Given the description of an element on the screen output the (x, y) to click on. 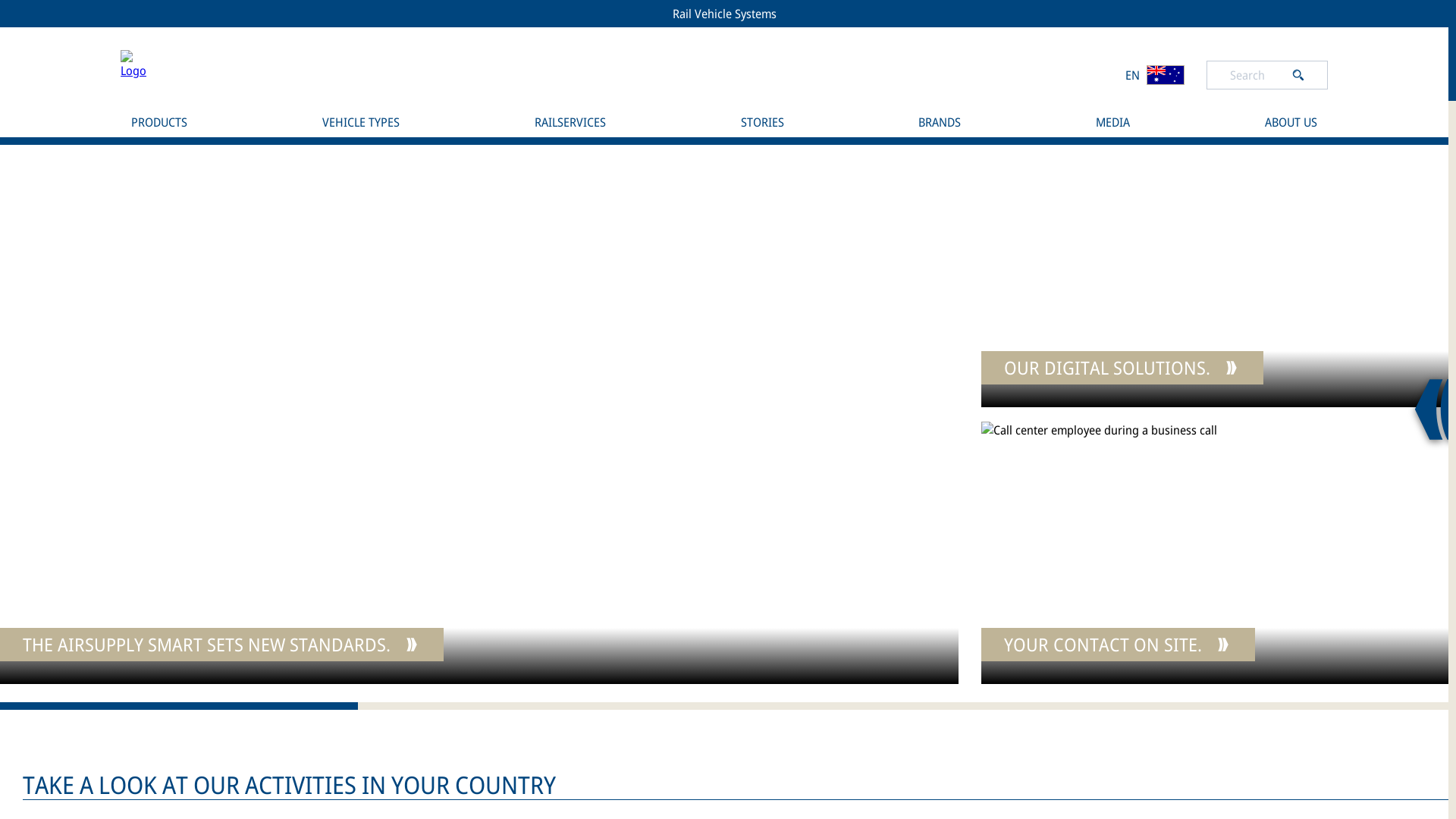
EN Element type: text (1154, 74)
PRODUCTS Element type: text (158, 121)
OUR DIGITAL SOLUTIONS. Element type: text (1214, 275)
RAILSERVICES Element type: text (570, 121)
BRANDS Element type: text (939, 121)
MEDIA Element type: text (1112, 121)
ABOUT US Element type: text (1290, 121)
STORIES Element type: text (761, 121)
VEHICLE TYPES Element type: text (360, 121)
YOUR CONTACT ON SITE. Element type: text (1214, 552)
THE AIRSUPPLY SMART SETS NEW STANDARDS. Element type: text (479, 414)
